Given the description of an element on the screen output the (x, y) to click on. 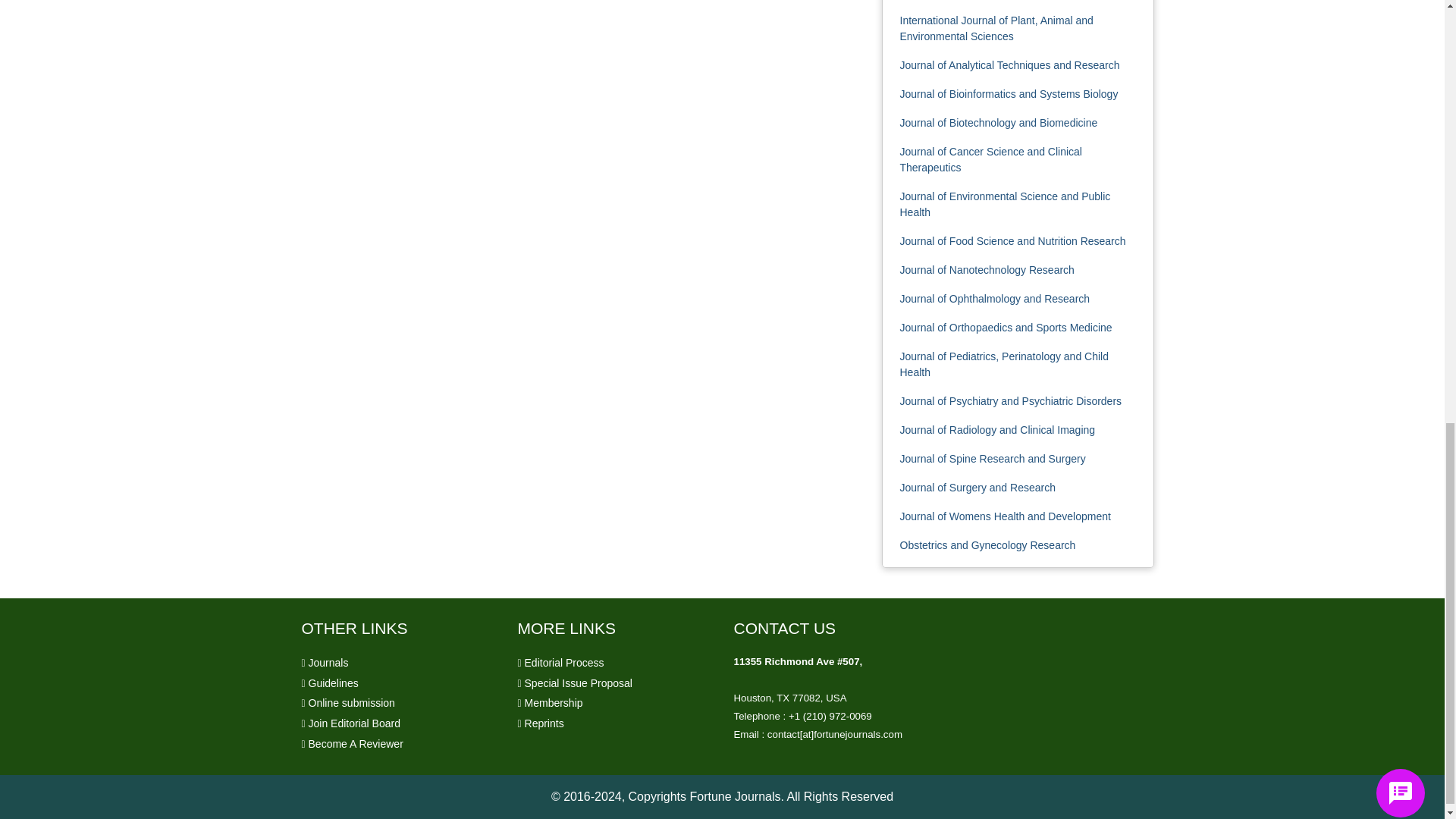
Journal of Environmental Science and Public Health (1004, 204)
Journal of Biotechnology and Biomedicine (998, 122)
Journal of Analytical Techniques and Research (1009, 64)
Journal of Food Science and Nutrition Research (1012, 241)
Journal of Ophthalmology and Research (994, 298)
Journal of Nanotechnology Research (986, 269)
Journal of Cancer Science and Clinical Therapeutics (990, 159)
Journal of Bioinformatics and Systems Biology (1008, 93)
